Given the description of an element on the screen output the (x, y) to click on. 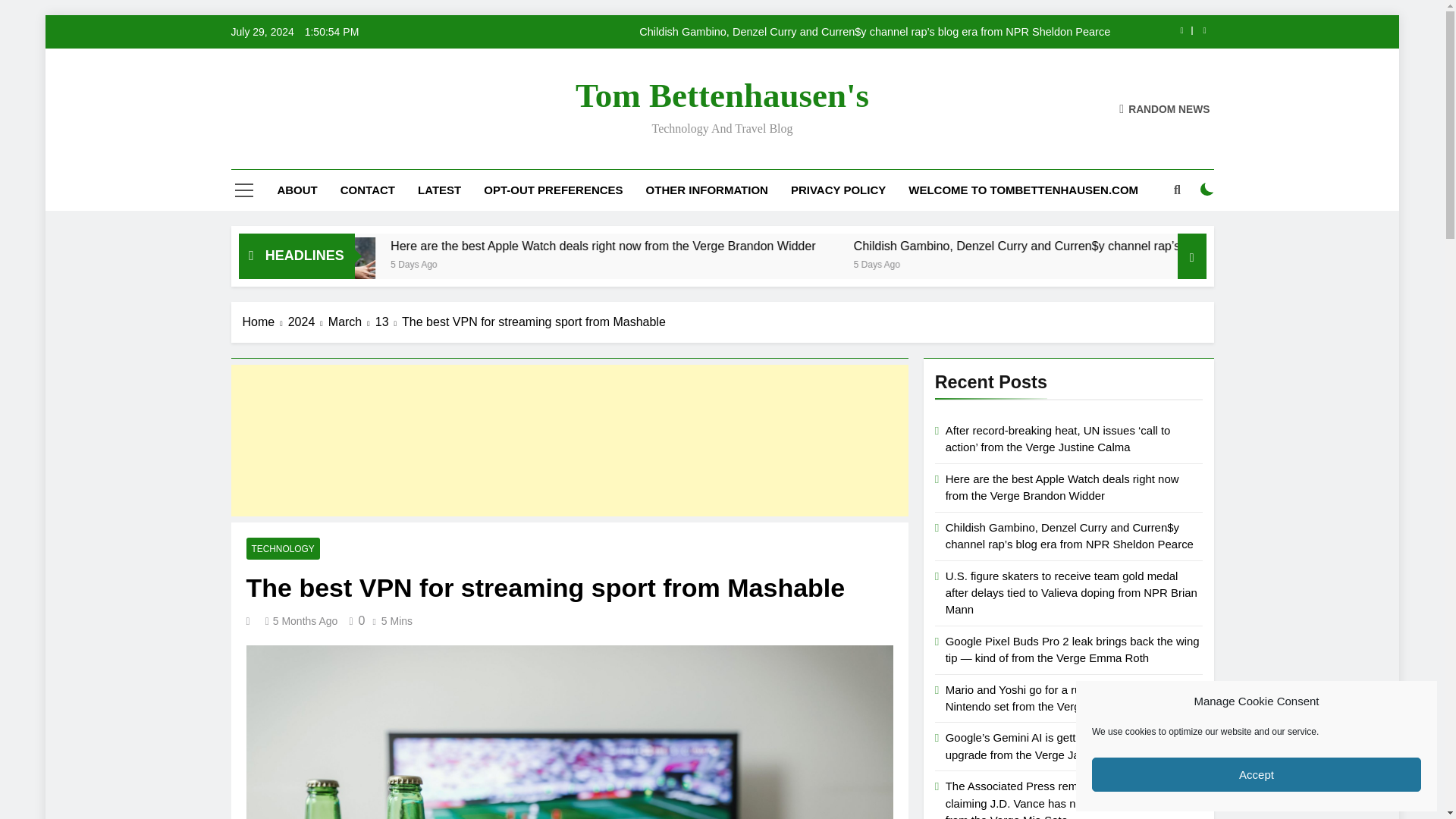
CONTACT (367, 189)
OPT-OUT PREFERENCES (552, 189)
Accept (1256, 774)
ABOUT (296, 189)
LATEST (438, 189)
Tom Bettenhausen'S (722, 95)
RANDOM NEWS (1164, 107)
PRIVACY POLICY (837, 189)
on (1206, 189)
WELCOME TO TOMBETTENHAUSEN.COM (1023, 189)
OTHER INFORMATION (706, 189)
